Given the description of an element on the screen output the (x, y) to click on. 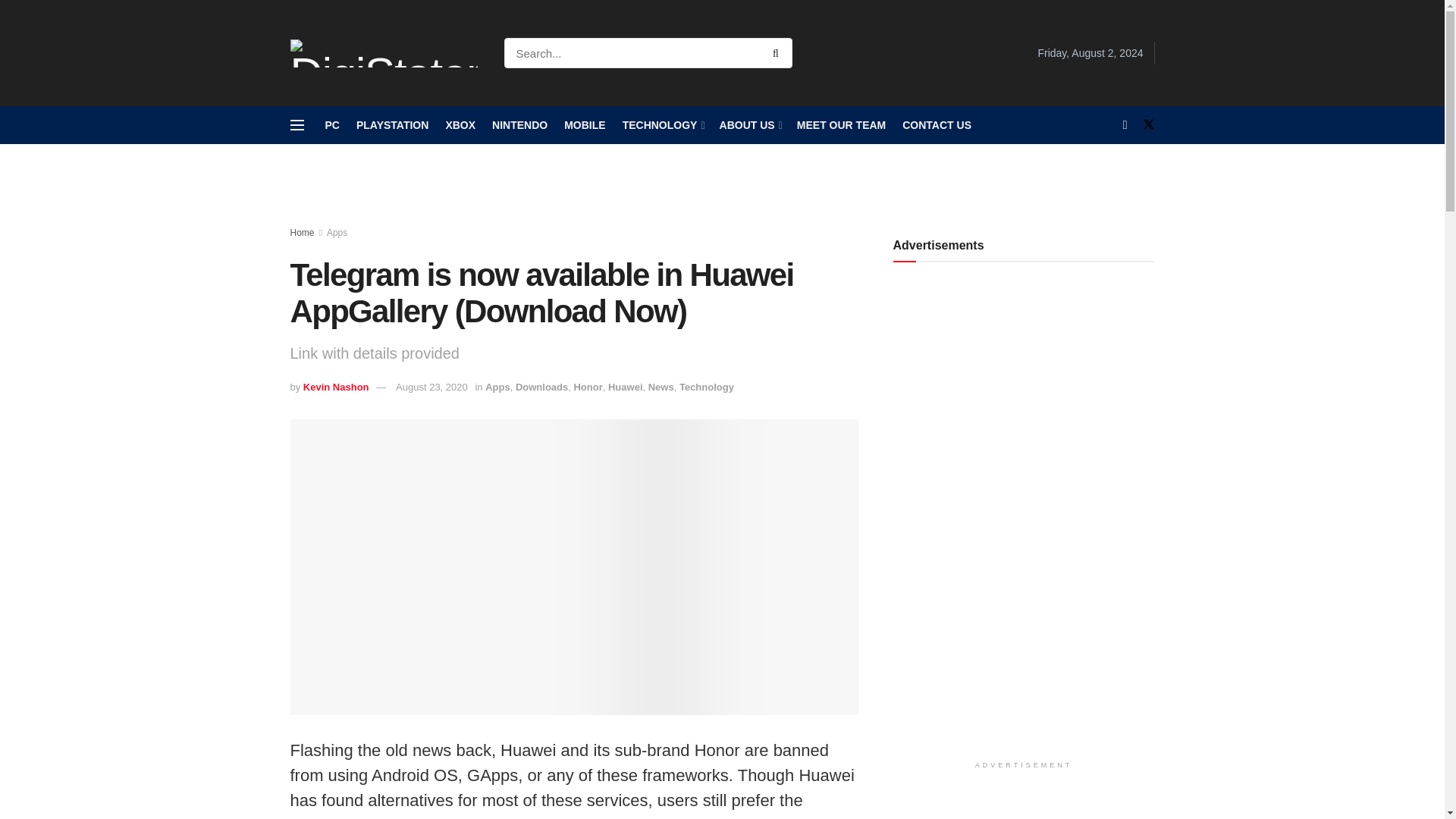
MOBILE (584, 125)
PLAYSTATION (392, 125)
CONTACT US (936, 125)
ABOUT US (749, 125)
MEET OUR TEAM (840, 125)
TECHNOLOGY (663, 125)
NINTENDO (519, 125)
